Given the description of an element on the screen output the (x, y) to click on. 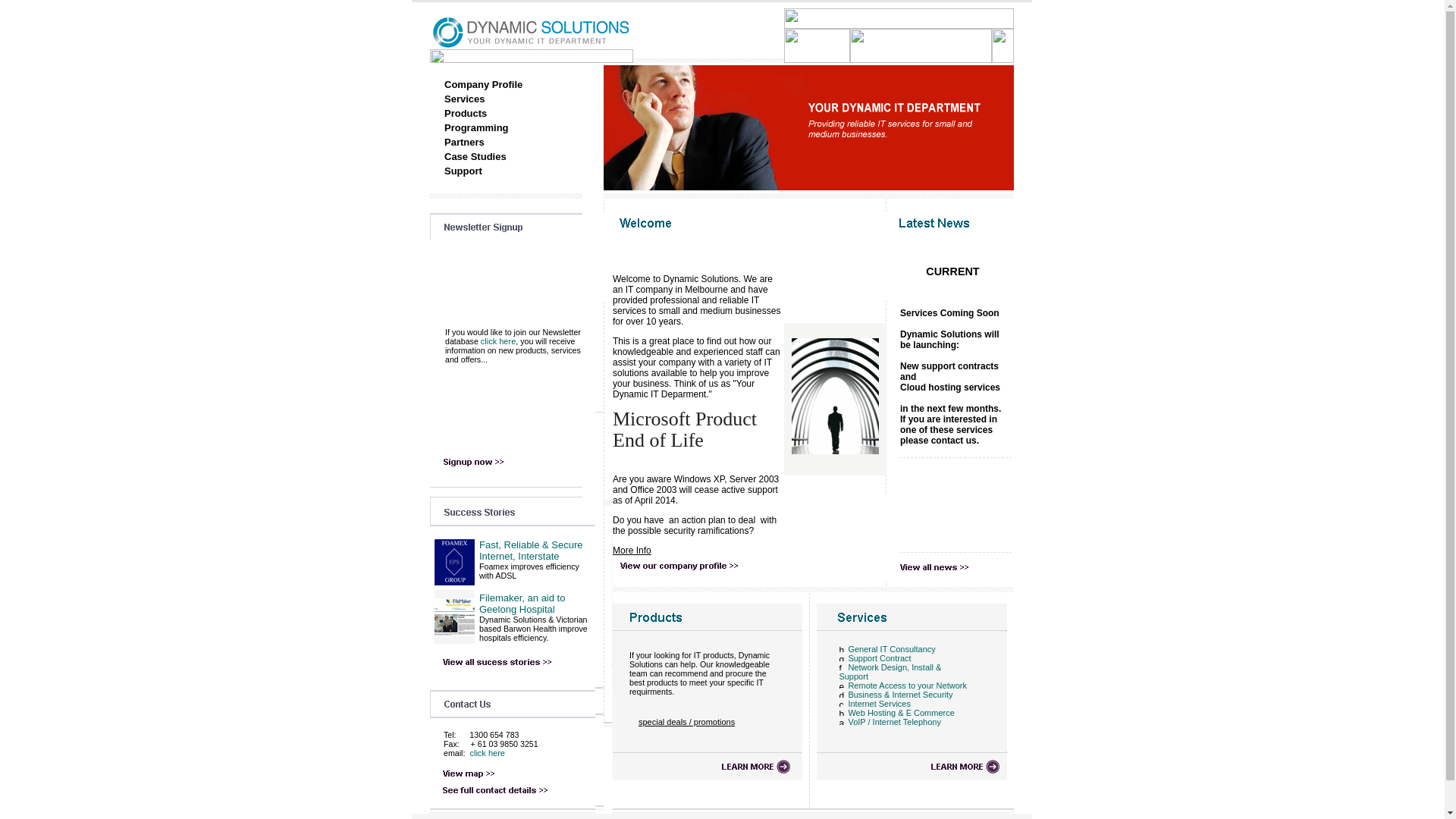
Fast, Reliable & Secure Internet, Interstate Element type: text (531, 550)
Services Element type: text (464, 97)
Case Studies Element type: text (475, 155)
General IT Consultancy Element type: text (891, 648)
Support Contract Element type: text (878, 657)
Support Element type: text (463, 170)
VoIP / Internet Telephony Element type: text (894, 721)
Network Design, Install & Support Element type: text (889, 671)
Business & Internet Security Element type: text (899, 694)
Web Hosting & E Commerce Element type: text (900, 712)
Internet Services Element type: text (878, 703)
Filemaker, an aid to Geelong Hospital Element type: text (521, 603)
Programming Element type: text (476, 126)
special deals / promotions Element type: text (686, 721)
 click here Element type: text (486, 752)
Company Profile Element type: text (483, 84)
Partners Element type: text (464, 141)
click here Element type: text (497, 340)
Products Element type: text (465, 113)
Remote Access to your Network Element type: text (906, 685)
More Info Element type: text (631, 550)
